Given the description of an element on the screen output the (x, y) to click on. 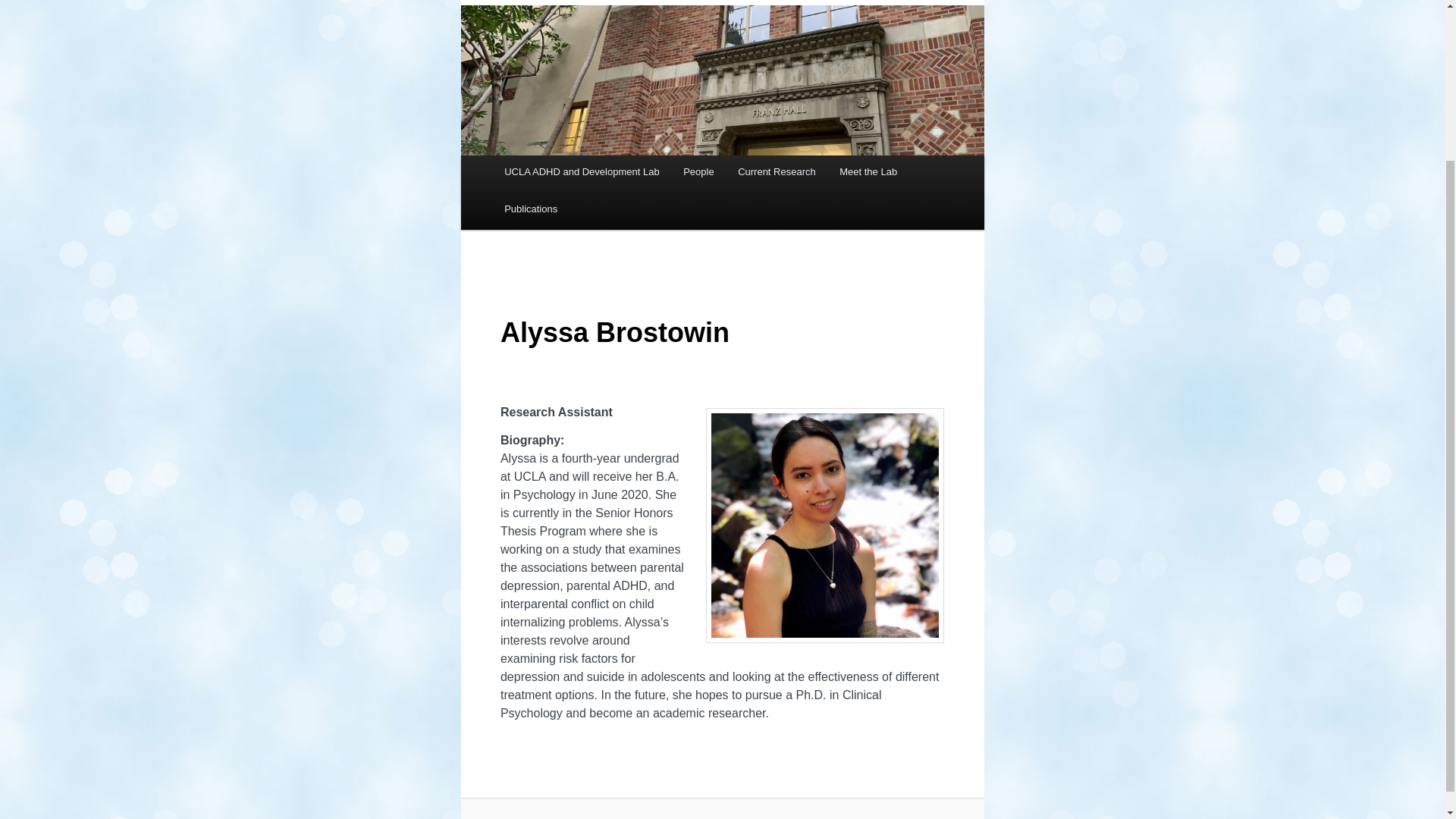
Publications (530, 208)
UCLA ADHD and Development Lab (581, 171)
People (698, 171)
Current Research (776, 171)
Meet the Lab (867, 171)
